Given the description of an element on the screen output the (x, y) to click on. 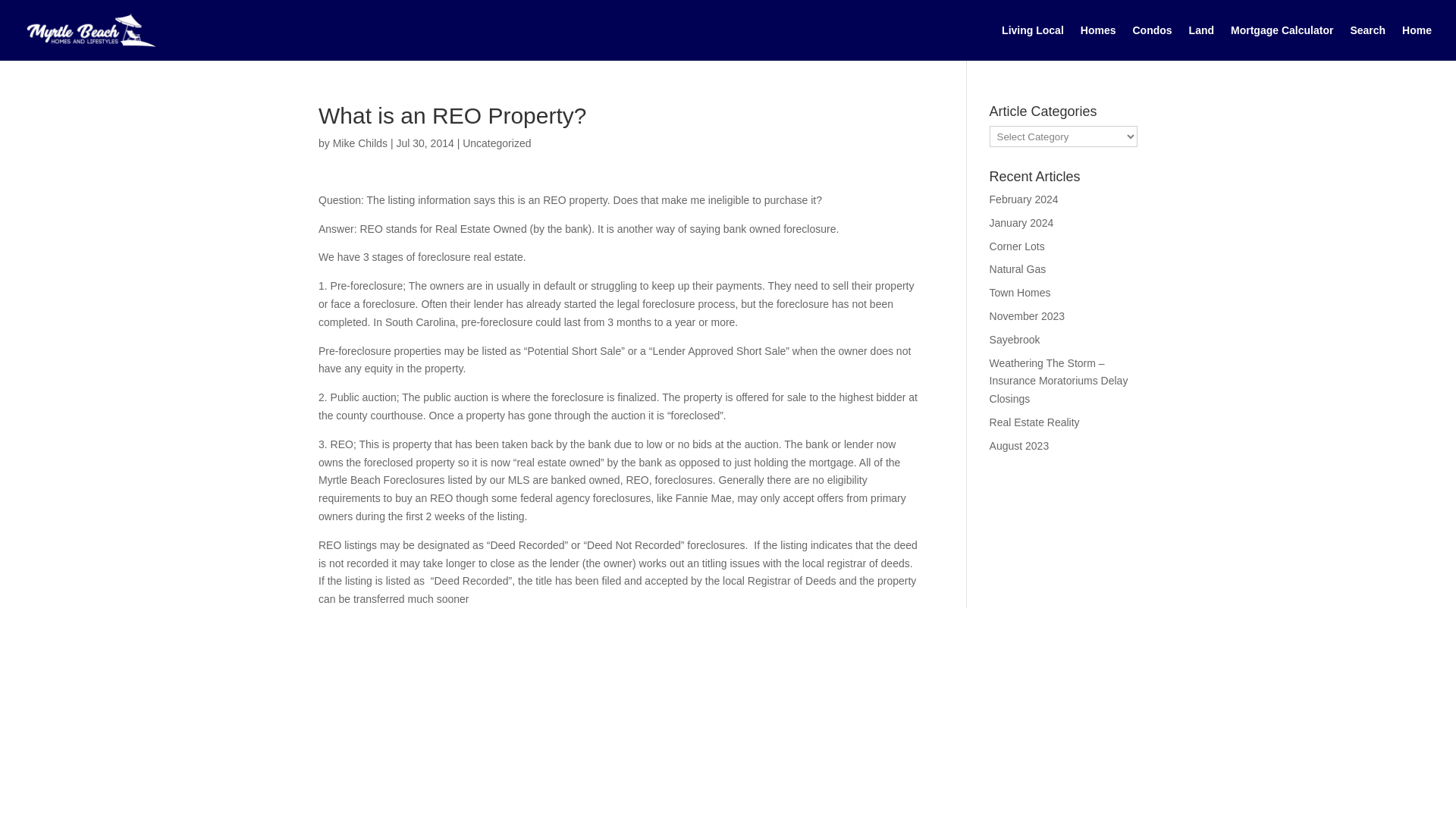
February 2024 (1024, 199)
Search All Homes and Condos for Sale (1367, 42)
Uncategorized (497, 143)
November 2023 (1027, 316)
Sayebrook (1015, 339)
Real Estate Reality (1035, 422)
Posts by Mike Childs (360, 143)
Town Homes (1020, 292)
Mike Childs (360, 143)
Natural Gas (1018, 268)
